Given the description of an element on the screen output the (x, y) to click on. 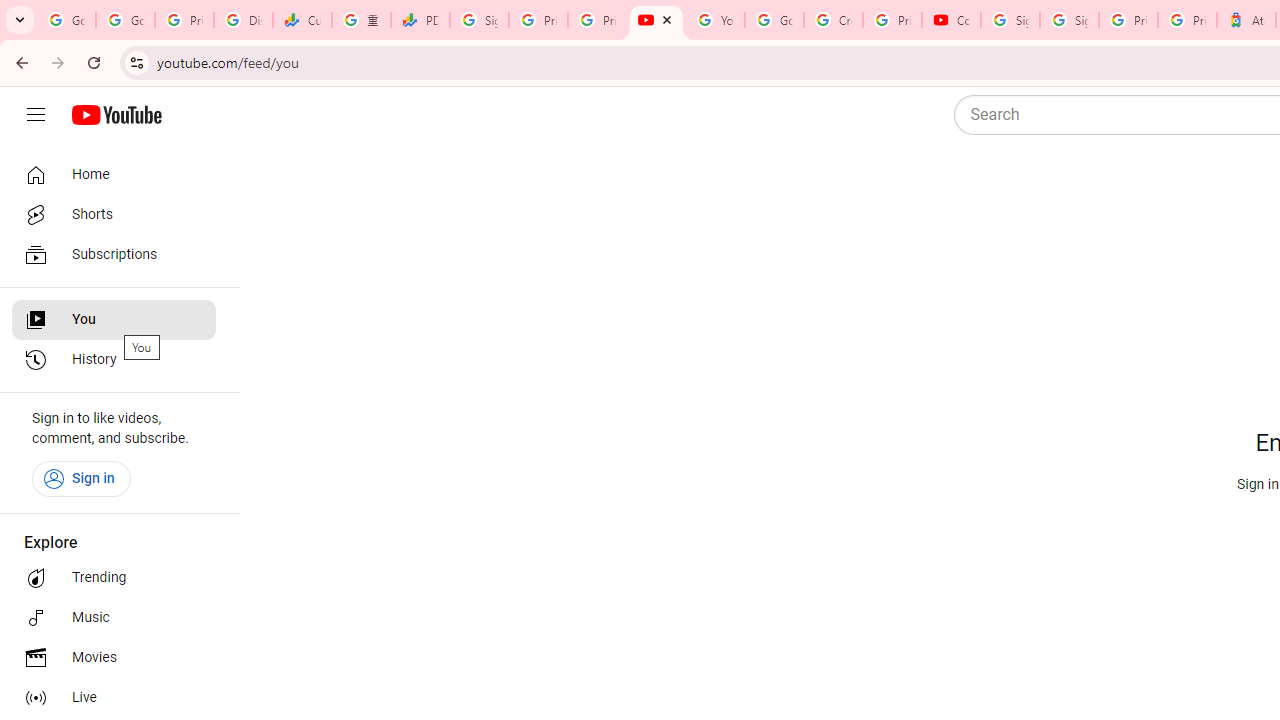
Google Account Help (774, 20)
Google Workspace Admin Community (66, 20)
Privacy Checkup (597, 20)
Library - YouTube (656, 20)
History (113, 359)
Music (113, 617)
Content Creator Programs & Opportunities - YouTube Creators (950, 20)
Subscriptions (113, 254)
Create your Google Account (832, 20)
YouTube (715, 20)
